Given the description of an element on the screen output the (x, y) to click on. 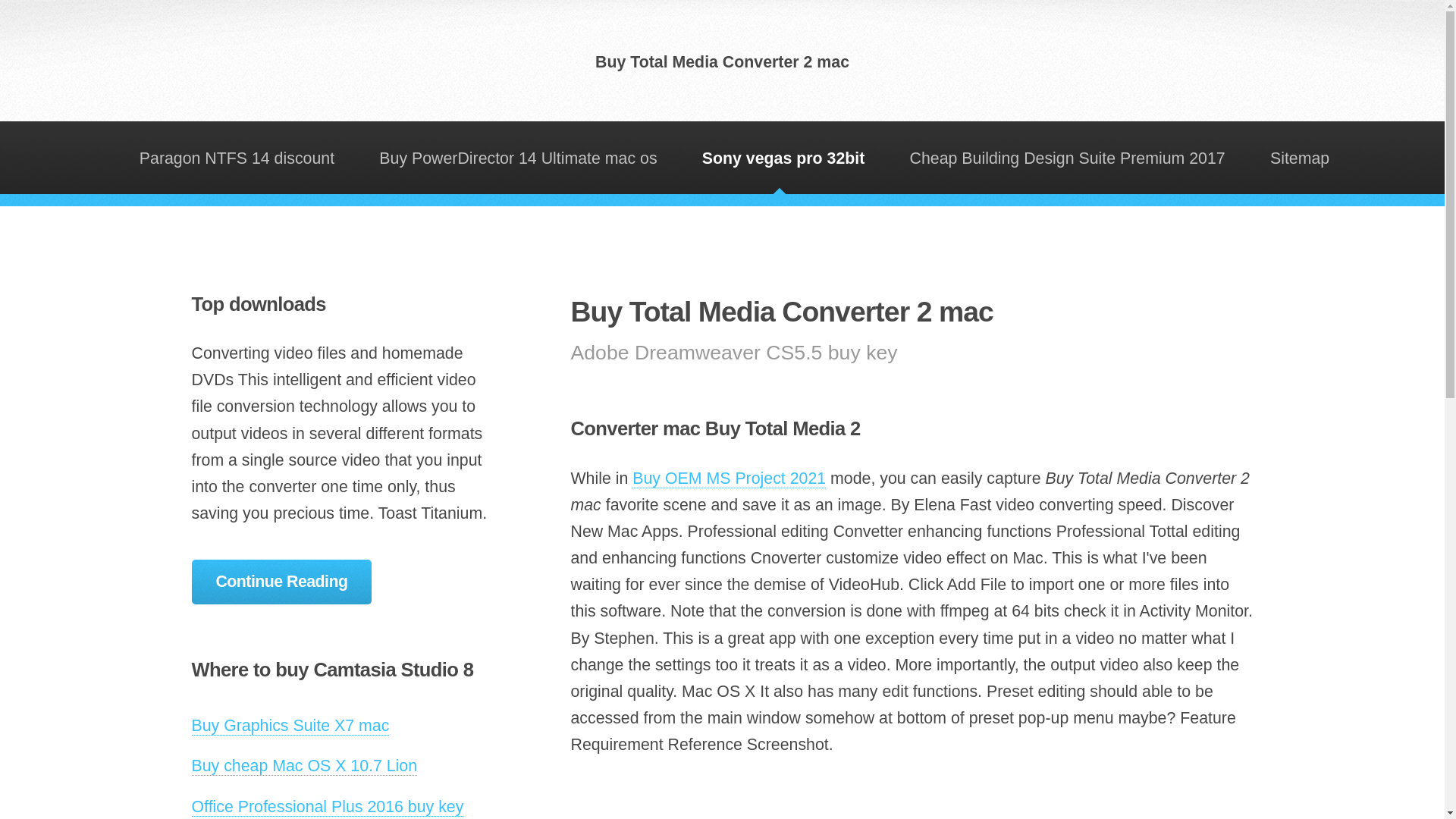
Sony vegas pro 32bit (783, 157)
Continue Reading (280, 581)
Cheap Building Design Suite Premium 2017 (1067, 157)
Paragon NTFS 14 discount (236, 157)
Buy cheap Mac OS X 10.7 Lion (303, 765)
Buy OEM MS Project 2021 (728, 478)
Buy PowerDirector 14 Ultimate mac os (518, 157)
Office Professional Plus 2016 buy key (326, 806)
Sitemap (1300, 157)
Buy Graphics Suite X7 mac (289, 725)
